Given the description of an element on the screen output the (x, y) to click on. 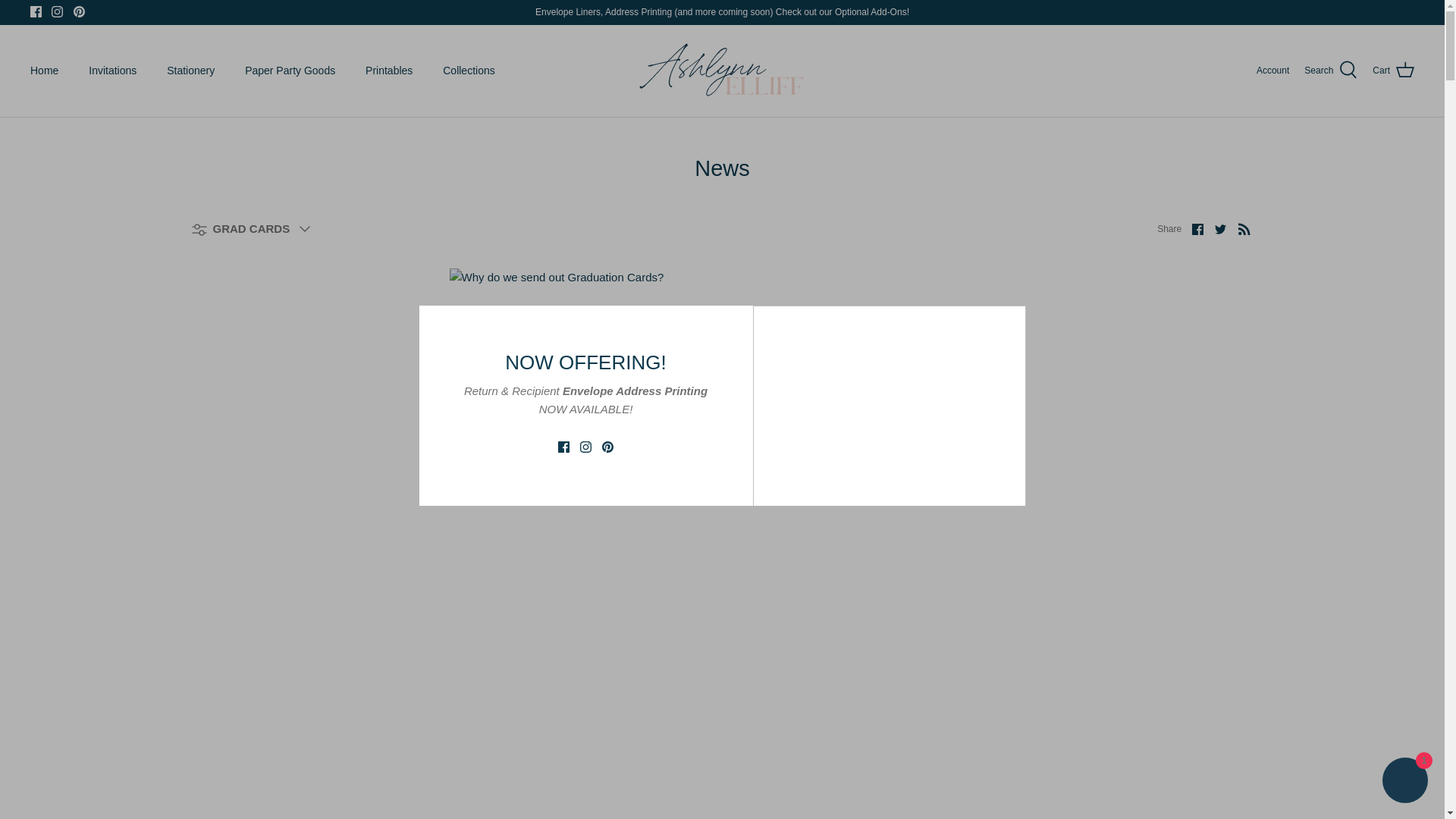
Instagram (56, 11)
Instagram (56, 11)
Stationery (190, 70)
Account (1272, 70)
Twitter (1219, 229)
Paper Party Goods (290, 70)
Search (1330, 70)
Facebook (36, 11)
Pinterest (79, 11)
News RSS (1243, 228)
Cart (1393, 70)
RSS (1243, 229)
Invitations (112, 70)
Ashlynn Elliff Designs (721, 70)
Collections (468, 70)
